Given the description of an element on the screen output the (x, y) to click on. 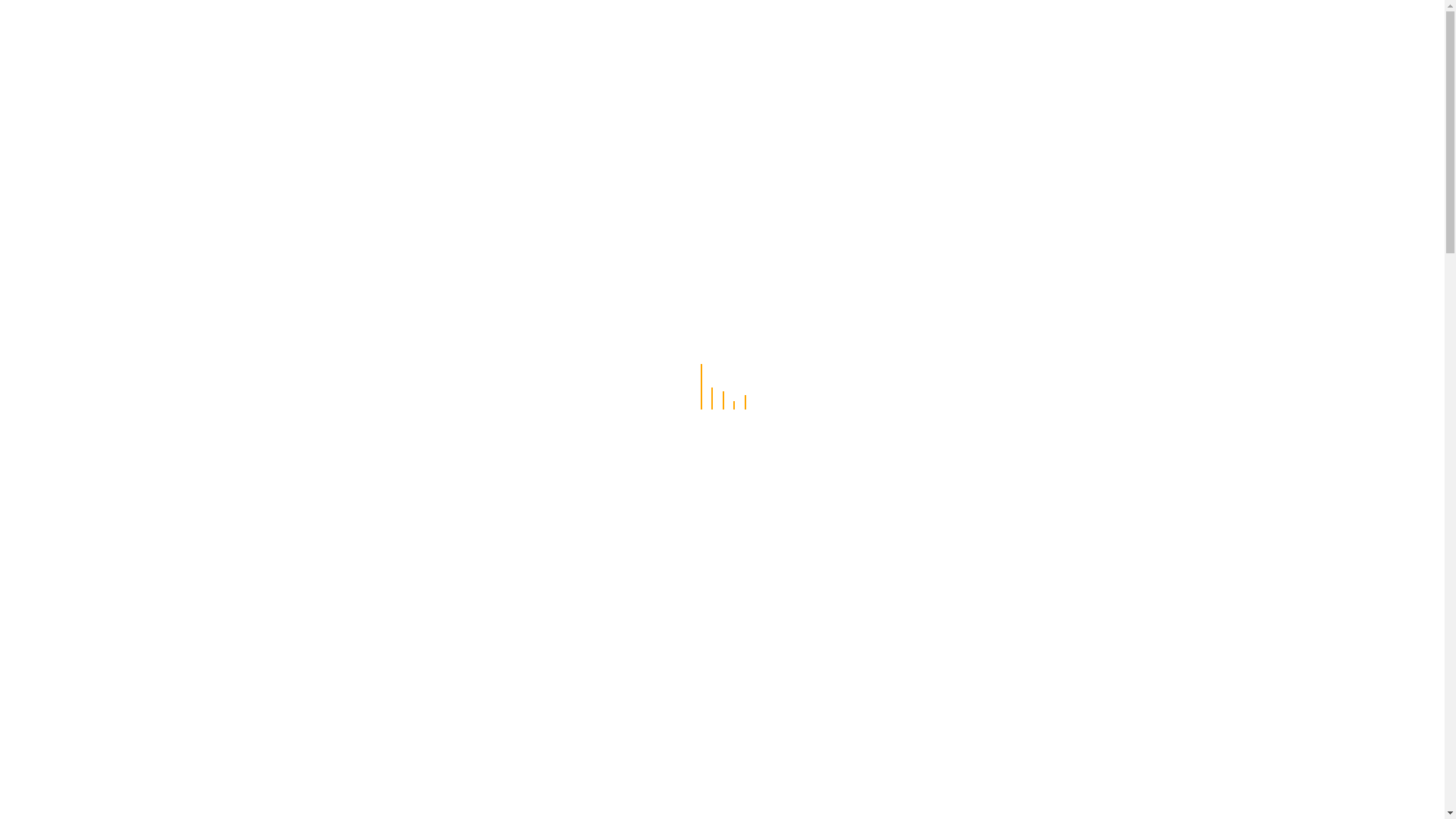
Home Element type: text (435, 29)
Blog Element type: text (946, 29)
READ MORE Element type: text (554, 376)
Rates Element type: text (896, 29)
Specialties Element type: text (745, 29)
Contact Element type: text (1003, 29)
LEARN MORE Element type: text (528, 639)
Substance Abuse Element type: text (638, 29)
Veterans Clinic Element type: text (518, 29)
Therapies Element type: text (828, 29)
